Given the description of an element on the screen output the (x, y) to click on. 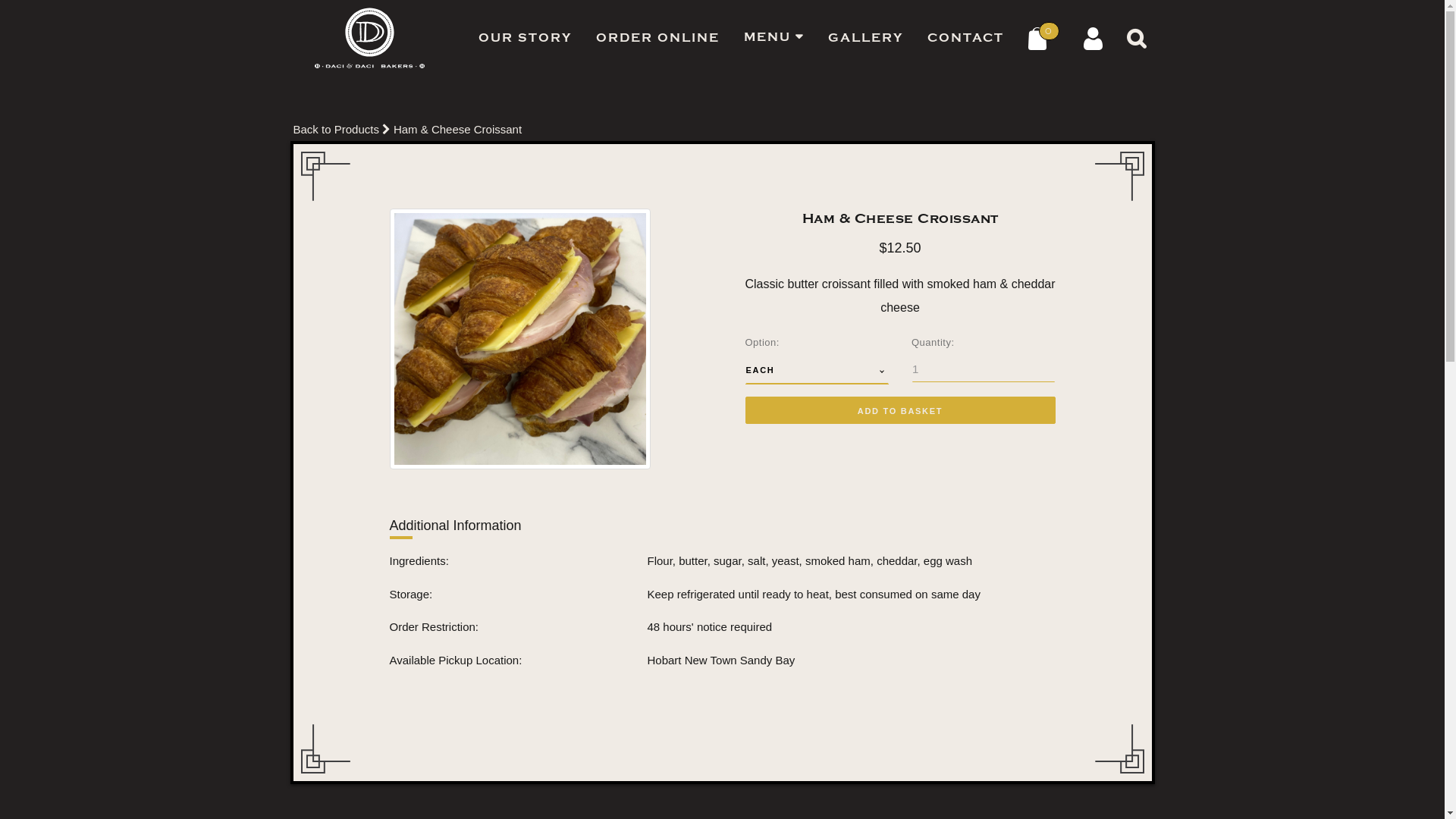
ADD TO BASKET Element type: text (899, 410)
MENU Element type: text (773, 36)
EACH Element type: text (816, 369)
GALLERY Element type: text (865, 37)
0 Element type: text (1043, 37)
Back to Products Element type: text (335, 128)
OUR STORY Element type: text (524, 37)
ORDER ONLINE Element type: text (657, 37)
CONTACT Element type: text (965, 37)
Ham & Cheese Croissant Element type: text (457, 128)
